Given the description of an element on the screen output the (x, y) to click on. 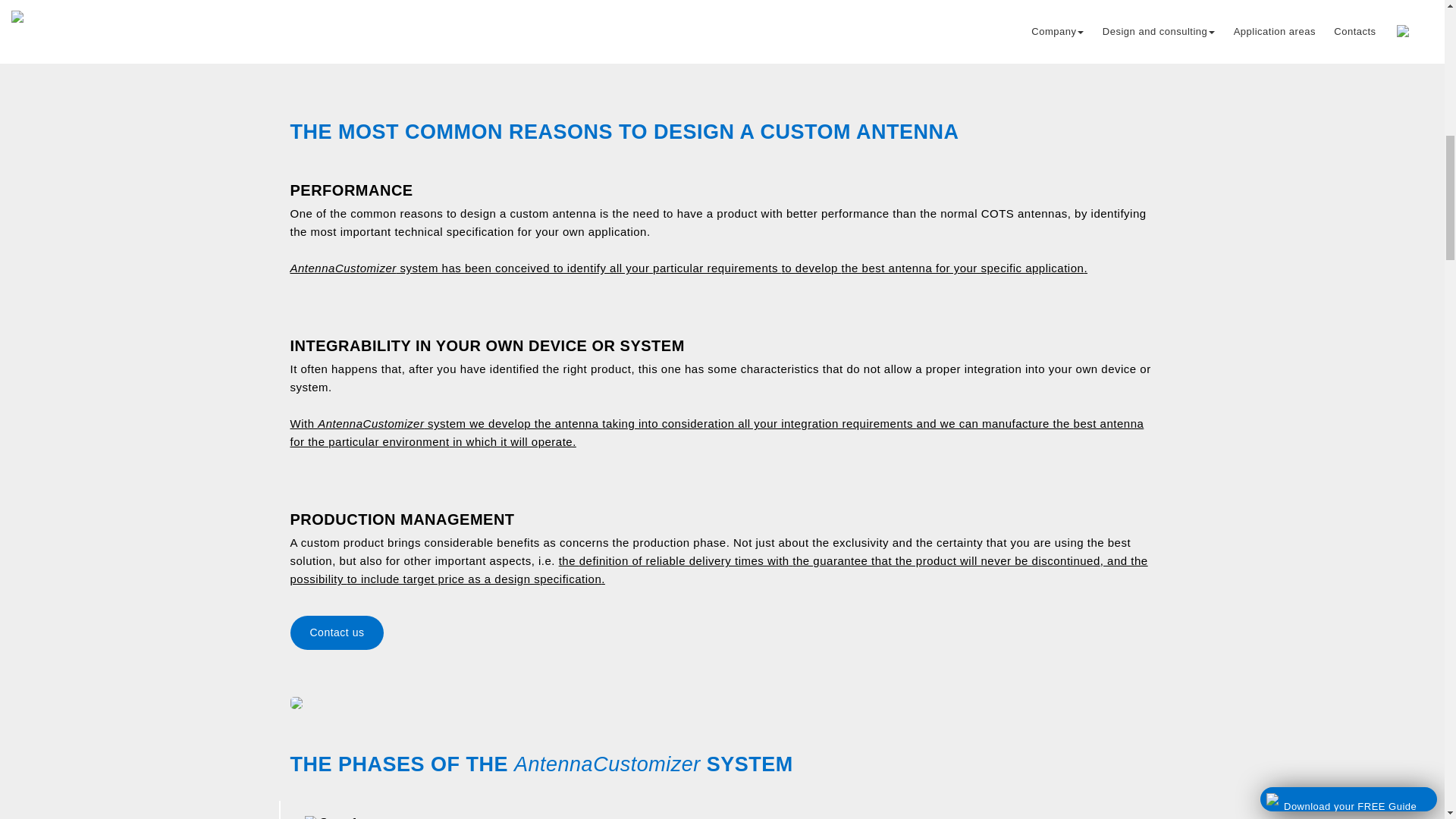
Contact us (721, 631)
